Given the description of an element on the screen output the (x, y) to click on. 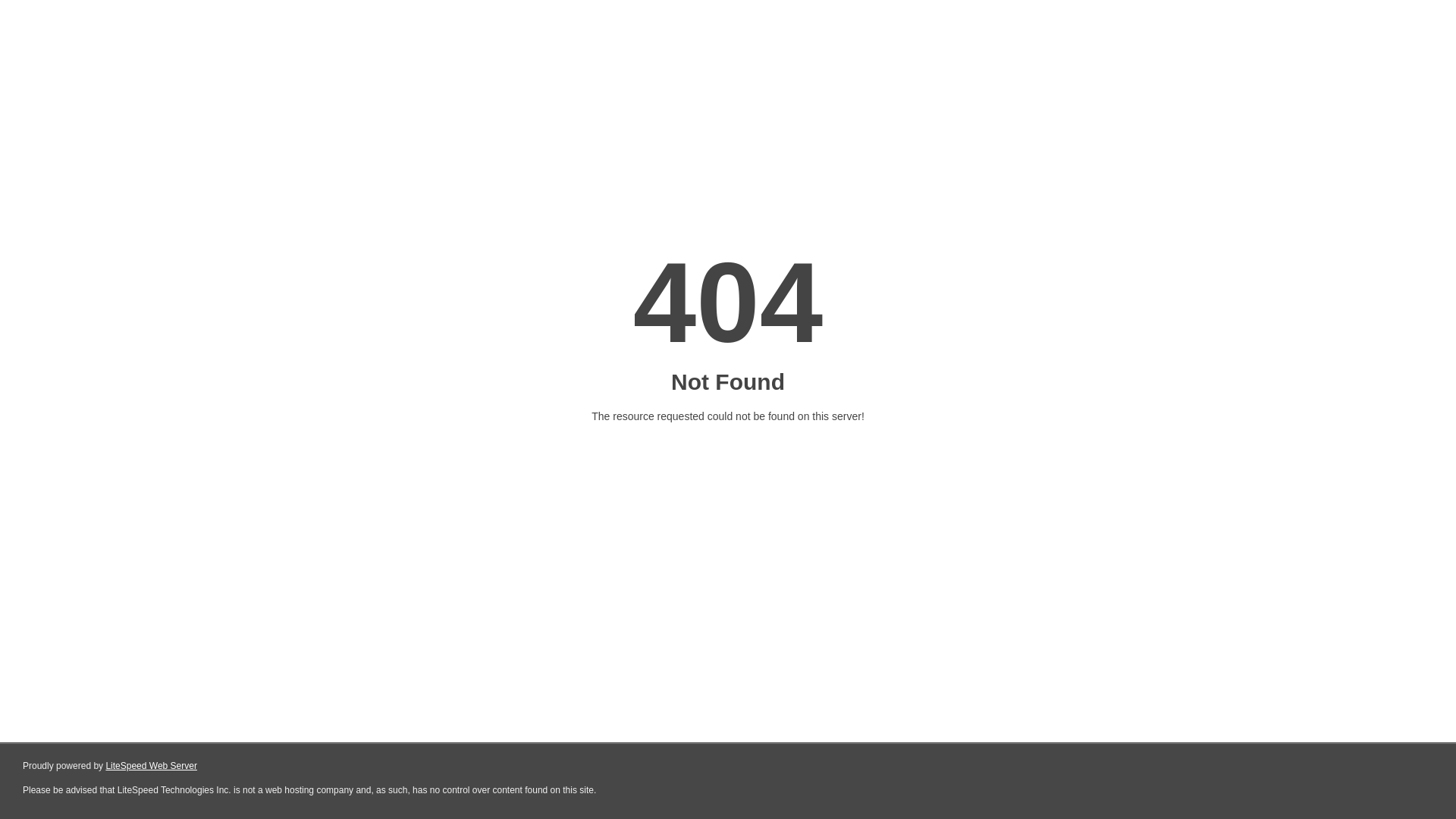
LiteSpeed Web Server Element type: text (151, 765)
